Given the description of an element on the screen output the (x, y) to click on. 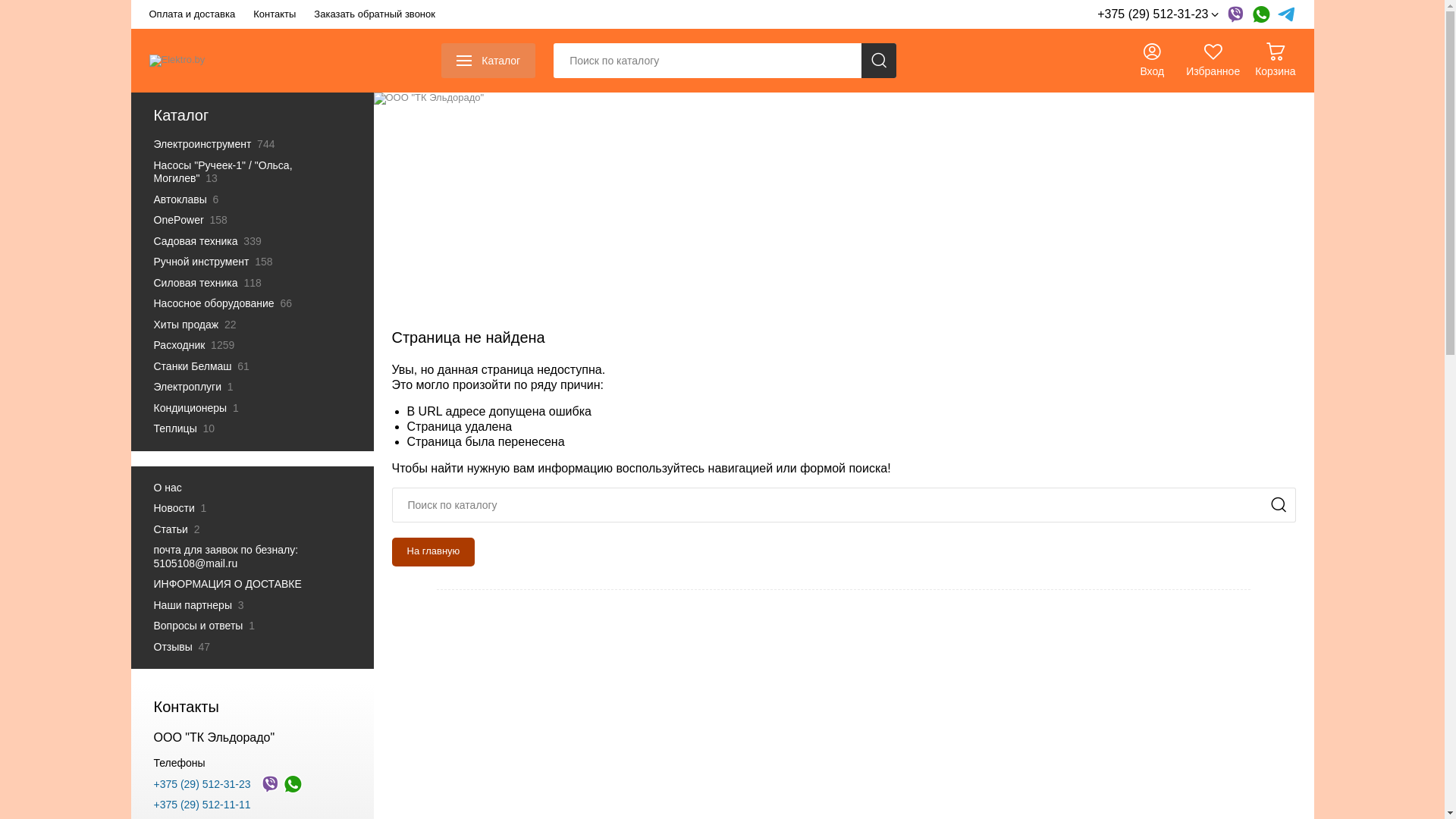
Viber Element type: hover (269, 784)
WhatsApp Element type: hover (292, 784)
Viber Element type: hover (1234, 14)
+375 (29) 512-11-11 Element type: text (201, 804)
+375 (29) 512-31-23 Element type: text (1157, 13)
Elektro.by Element type: hover (176, 60)
+375 (29) 512-31-23 Element type: text (201, 784)
Telegram Element type: hover (1286, 14)
OnePower  158 Element type: text (244, 220)
WhatsApp Element type: hover (1260, 14)
